Given the description of an element on the screen output the (x, y) to click on. 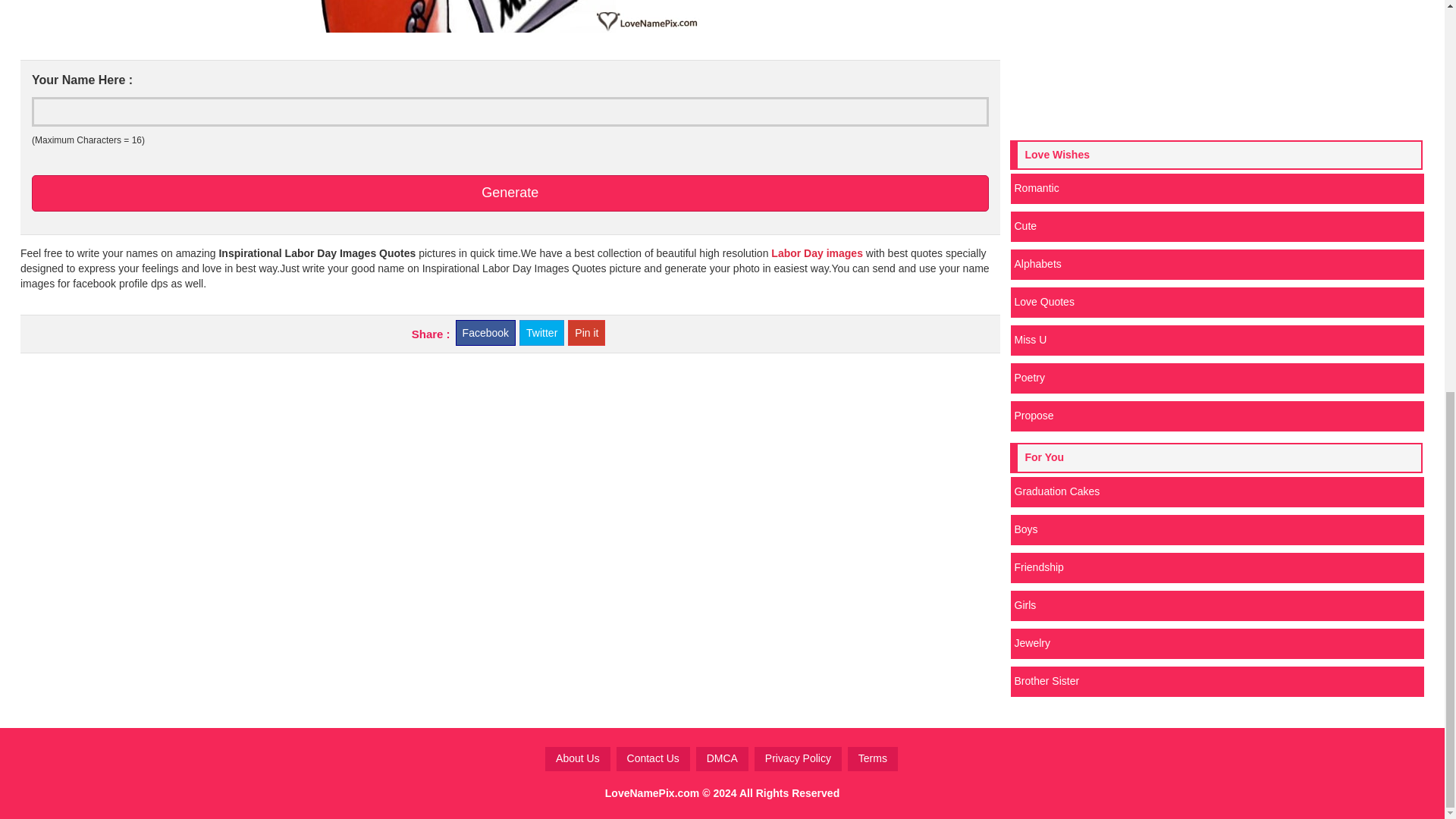
About Us (577, 758)
Brother Sister (1216, 681)
Friendship (1216, 567)
Alphabets (1216, 264)
Privacy Policy (797, 758)
Facebook (485, 332)
Poetry (1216, 378)
Cute (1216, 226)
Graduation Cakes (1216, 491)
Advertisement (1216, 64)
